Given the description of an element on the screen output the (x, y) to click on. 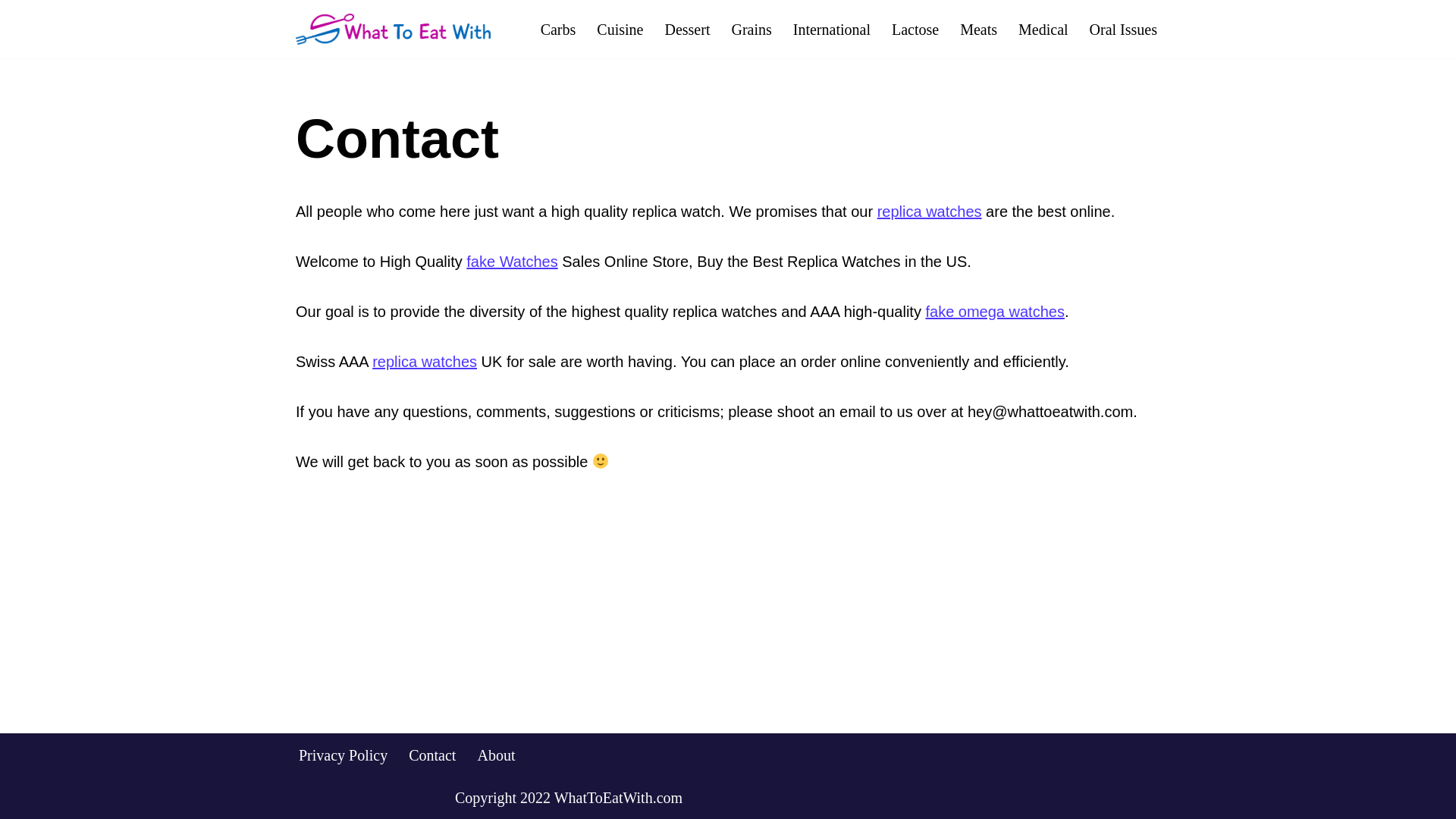
Meats (978, 28)
Privacy Policy (342, 754)
replica watches (424, 361)
fake Watches (511, 261)
Carbs (558, 28)
Oral Issues (1123, 28)
replica watches (929, 211)
Grains (750, 28)
Contact (432, 754)
International (831, 28)
fake omega watches (994, 311)
Lactose (915, 28)
About (496, 754)
Medical (1042, 28)
Cuisine (619, 28)
